Given the description of an element on the screen output the (x, y) to click on. 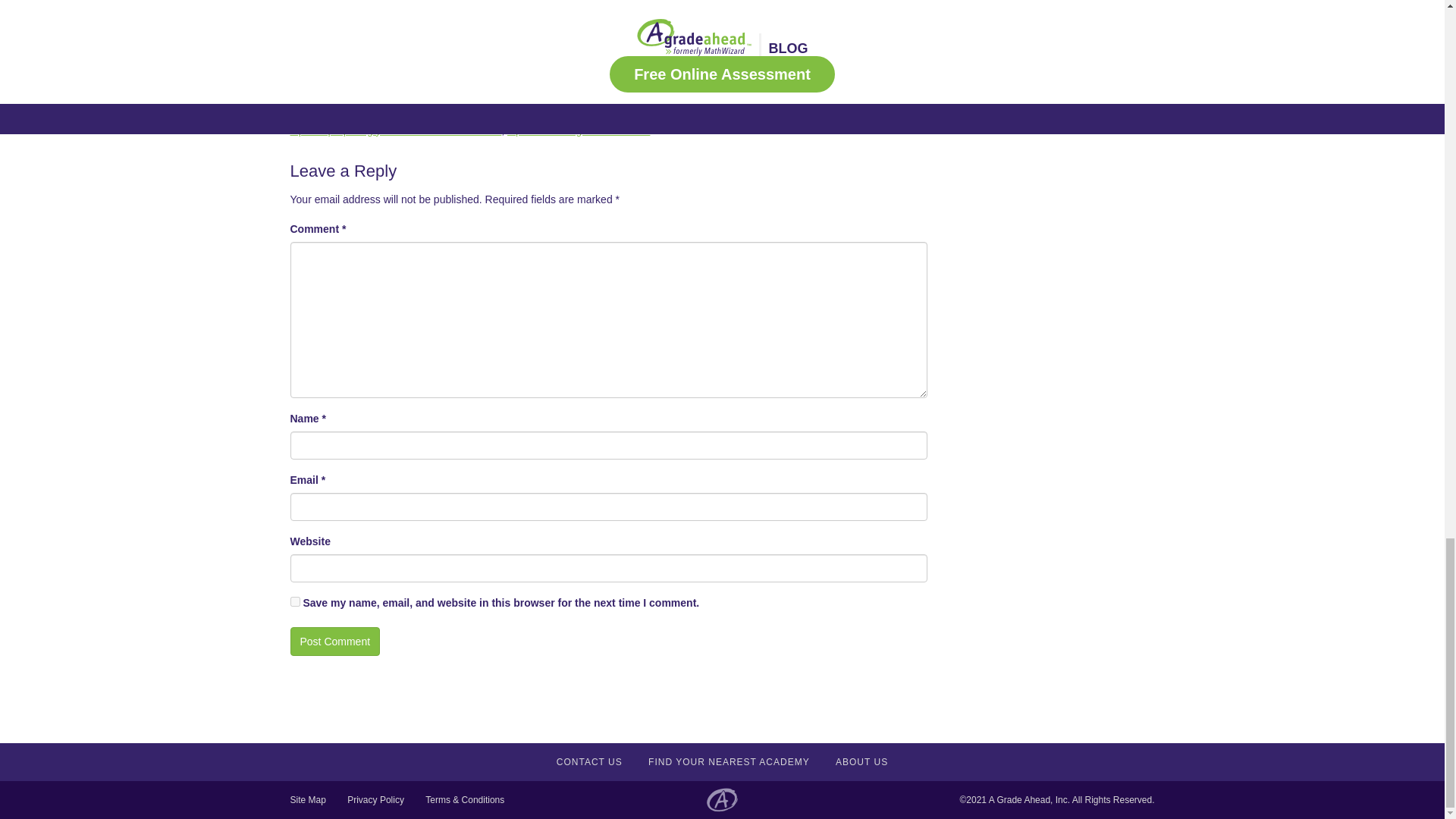
Preparing your child for a new school (634, 111)
Tips for Moving (868, 111)
yes (294, 601)
Site Map (306, 799)
FIND YOUR NEAREST ACADEMY (728, 761)
new school (514, 111)
CONTACT US (589, 761)
Blog page (392, 72)
Tips for preparing your child for a new school (394, 130)
Tips for Starting a New School (578, 130)
ABOUT US (861, 761)
Help with Moving (360, 111)
Post Comment (334, 641)
Post Comment (334, 641)
A Grade Ahead (542, 2)
